Given the description of an element on the screen output the (x, y) to click on. 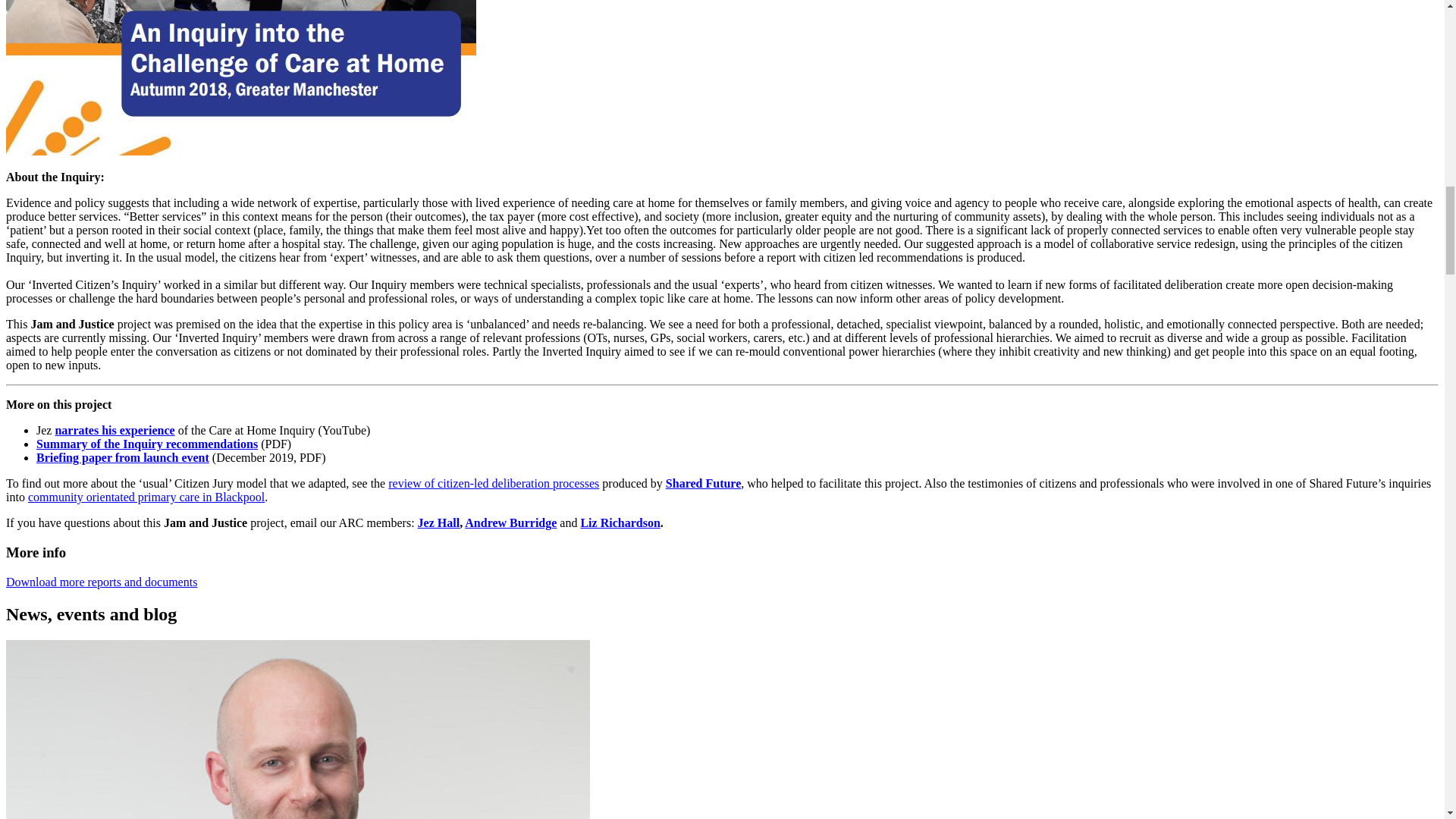
narrates his experience (114, 430)
Summary of the Inquiry recommendations (146, 443)
Andrew Burridge (510, 522)
community orientated primary care in Blackpool (145, 496)
review of citizen-led deliberation processes (493, 482)
Jez Hall (438, 522)
Briefing paper from launch event (122, 457)
Shared Future (703, 482)
Liz Richardson (619, 522)
